Given the description of an element on the screen output the (x, y) to click on. 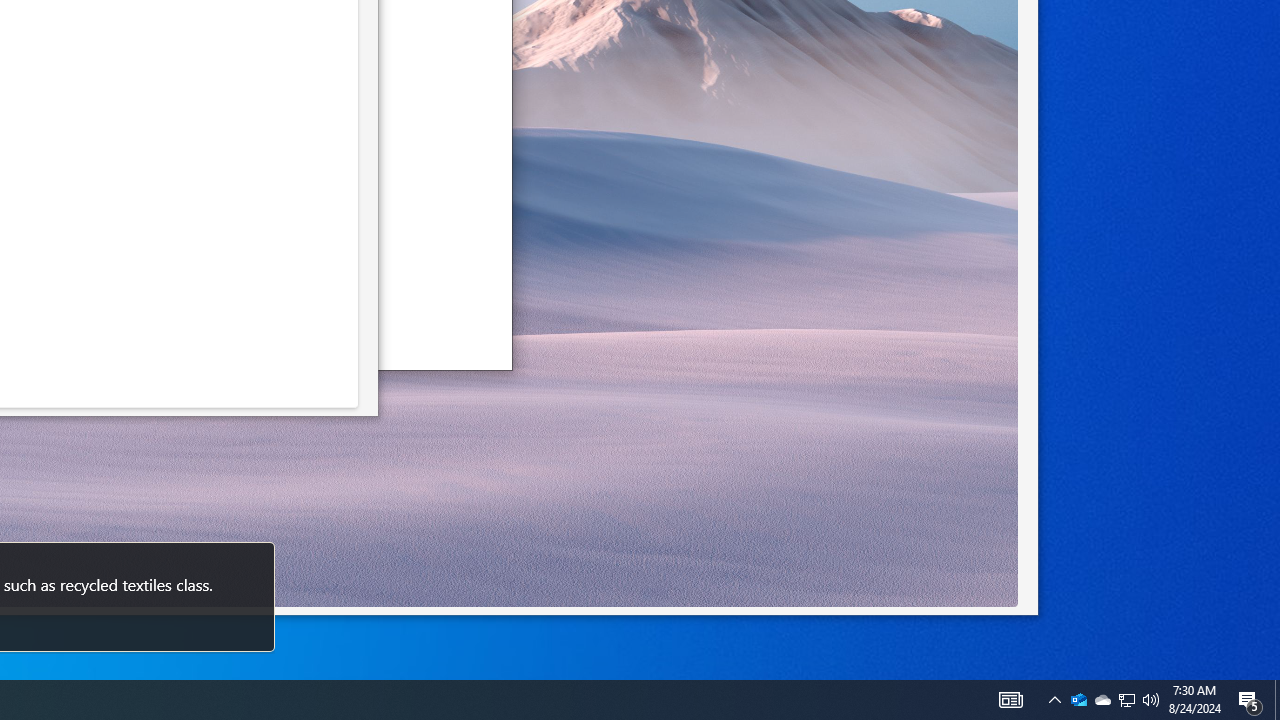
Action Center, 5 new notifications (1250, 699)
Notification Chevron (1055, 699)
User Promoted Notification Area (1126, 699)
AutomationID: 4105 (1010, 699)
Show desktop (1277, 699)
System Promoted Notification Area (1102, 699)
Microsoft Outlook (1078, 699)
Q2790: 100% (1126, 699)
